Given the description of an element on the screen output the (x, y) to click on. 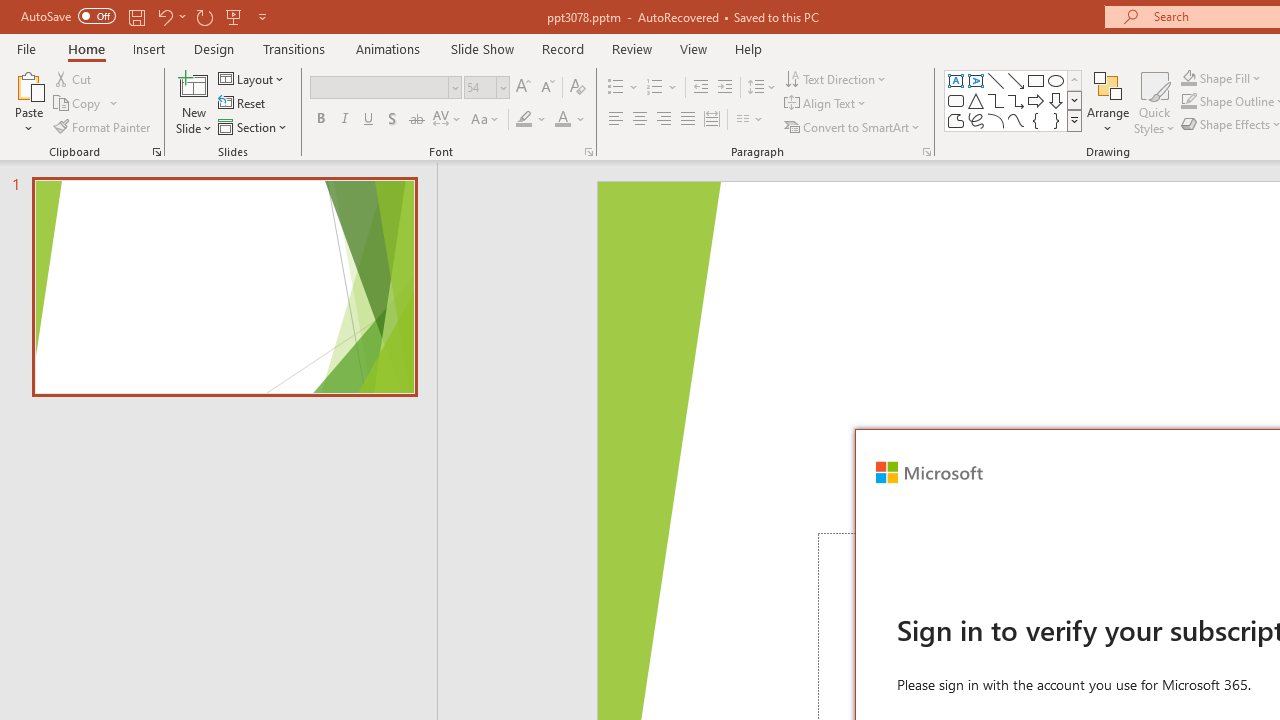
Freeform: Shape (955, 120)
Underline (369, 119)
Decrease Indent (700, 87)
Decrease Font Size (547, 87)
Isosceles Triangle (975, 100)
